Given the description of an element on the screen output the (x, y) to click on. 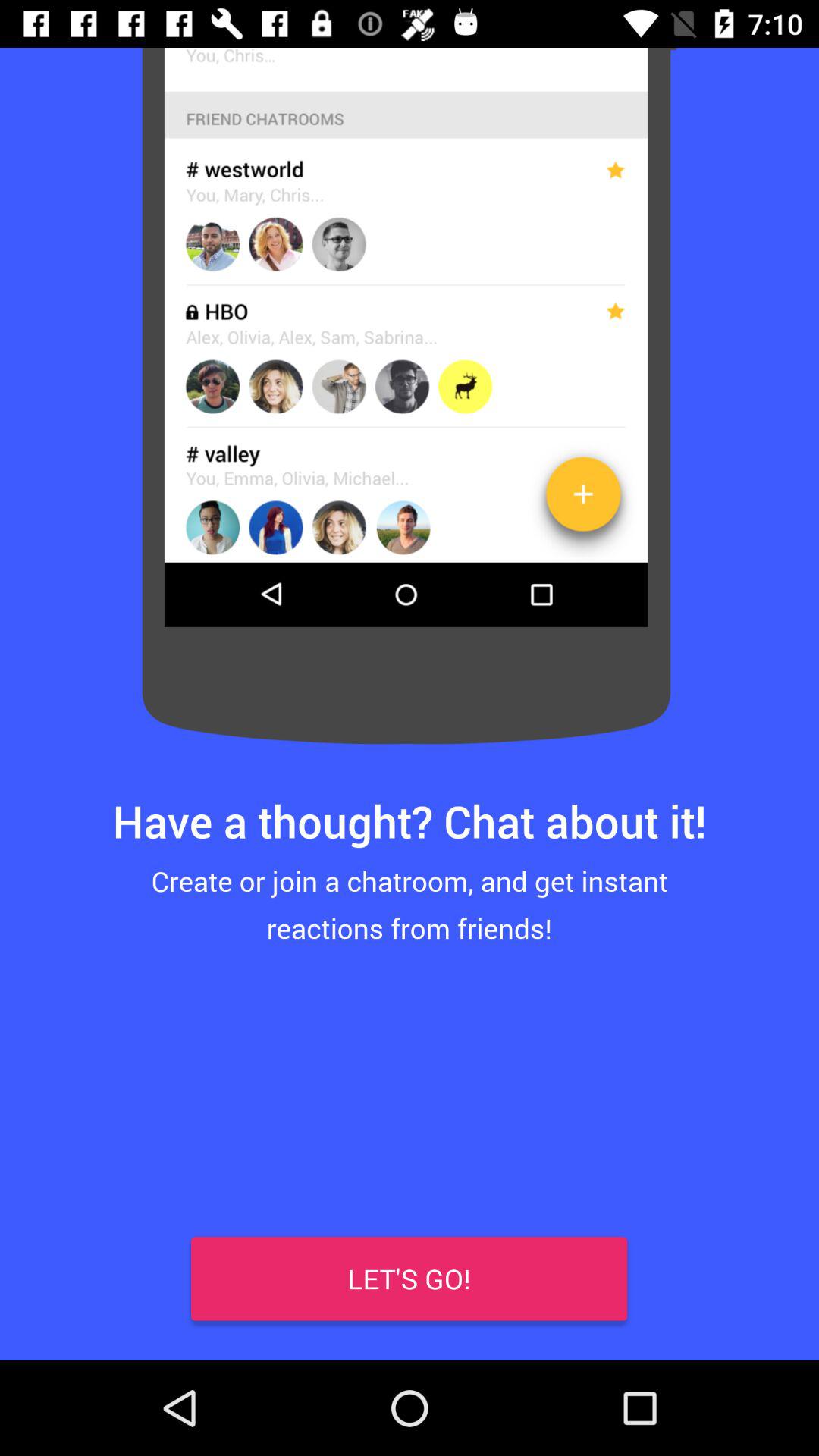
tap icon below the create or join (409, 1278)
